Given the description of an element on the screen output the (x, y) to click on. 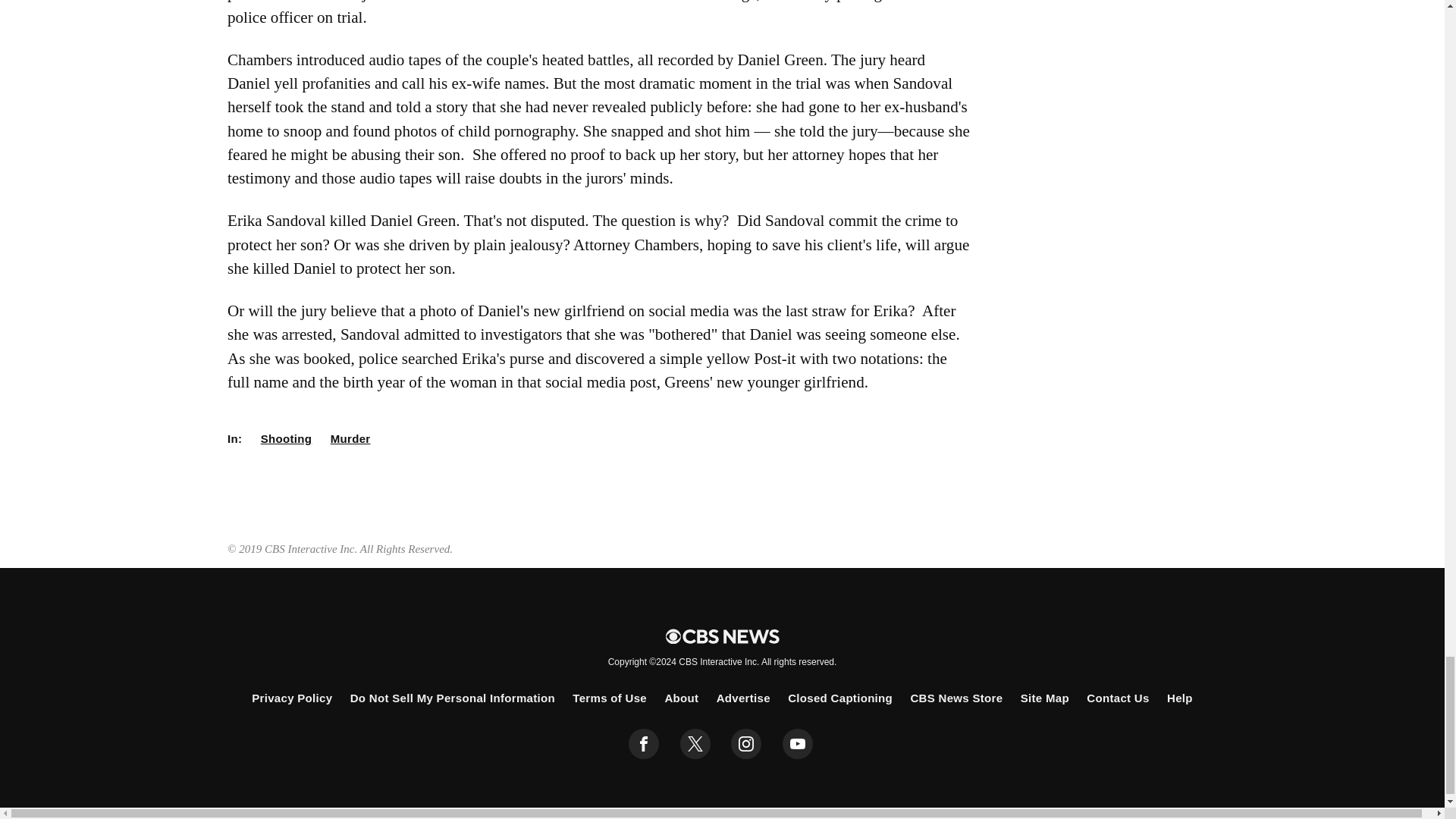
instagram (745, 743)
twitter (694, 743)
facebook (643, 743)
youtube (797, 743)
